Given the description of an element on the screen output the (x, y) to click on. 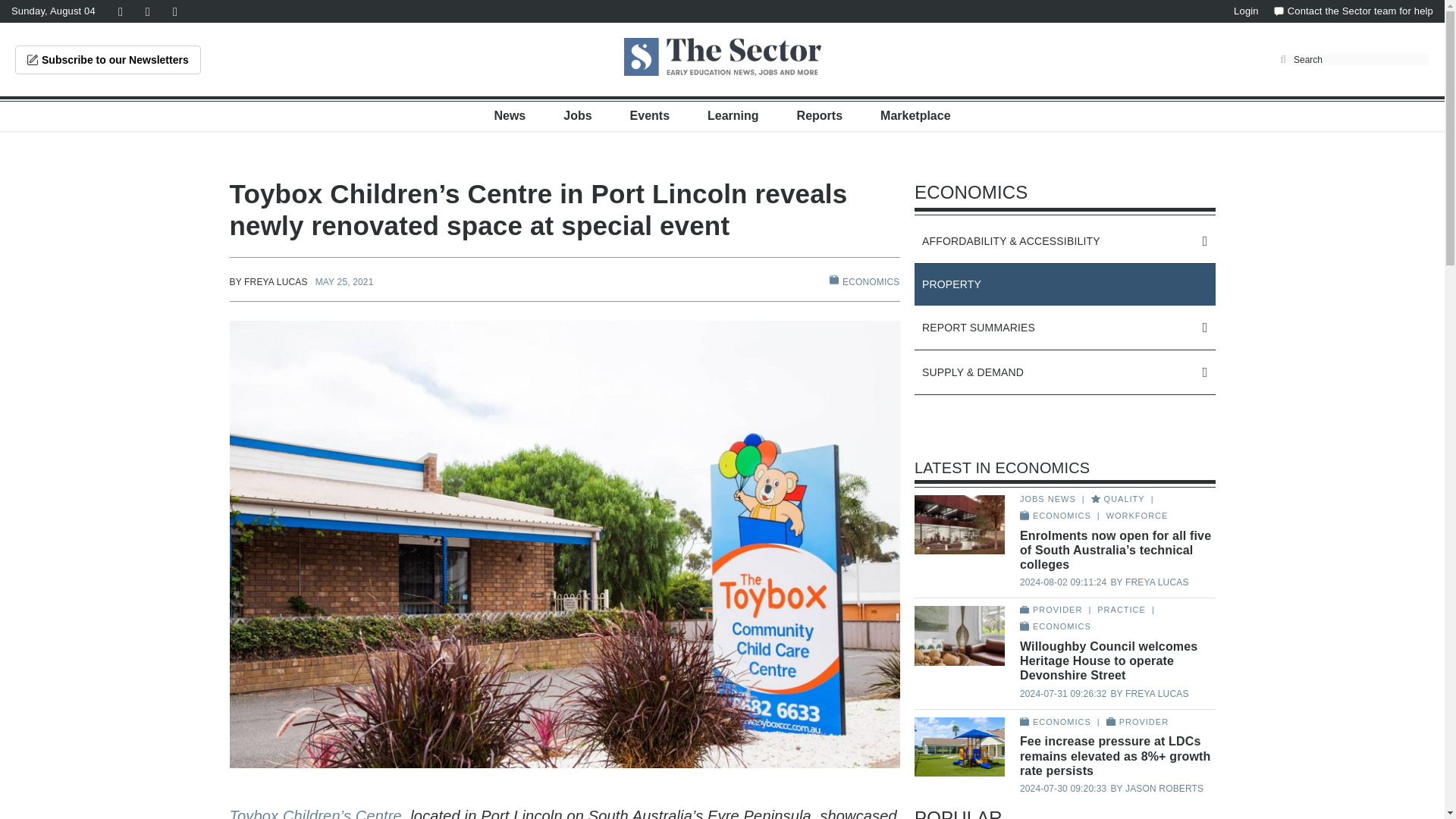
Subscribe to our Newsletters (107, 59)
Learning (732, 115)
Login (1246, 11)
FILL 1 COPY 8 CREATED WITH SKETCH. ECONOMICS (864, 280)
FILL 1 COPY 8 CREATED WITH SKETCH. (833, 279)
Reports (819, 115)
Jobs (577, 115)
Marketplace (915, 115)
Contact the Sector team for help (1353, 11)
News (509, 115)
Events (649, 115)
